Given the description of an element on the screen output the (x, y) to click on. 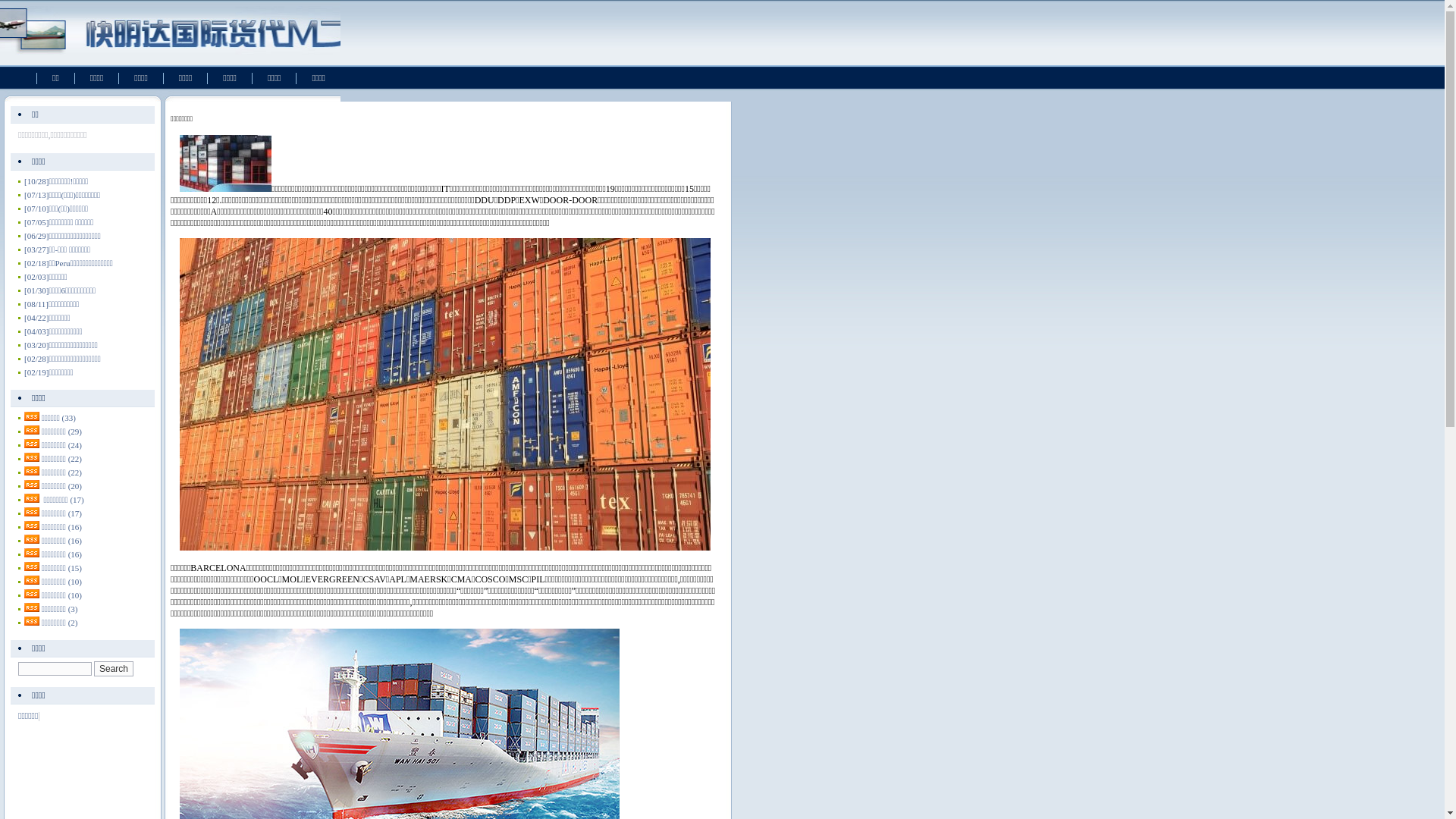
rss Element type: hover (31, 429)
rss Element type: hover (31, 443)
rss Element type: hover (31, 606)
rss Element type: hover (31, 497)
rss Element type: hover (31, 552)
rss Element type: hover (31, 566)
rss Element type: hover (31, 593)
rss Element type: hover (31, 579)
rss Element type: hover (31, 470)
rss Element type: hover (31, 511)
rss Element type: hover (31, 456)
rss Element type: hover (31, 525)
rss Element type: hover (31, 484)
rss Element type: hover (31, 620)
rss Element type: hover (31, 538)
Search Element type: text (113, 668)
rss Element type: hover (31, 415)
